Given the description of an element on the screen output the (x, y) to click on. 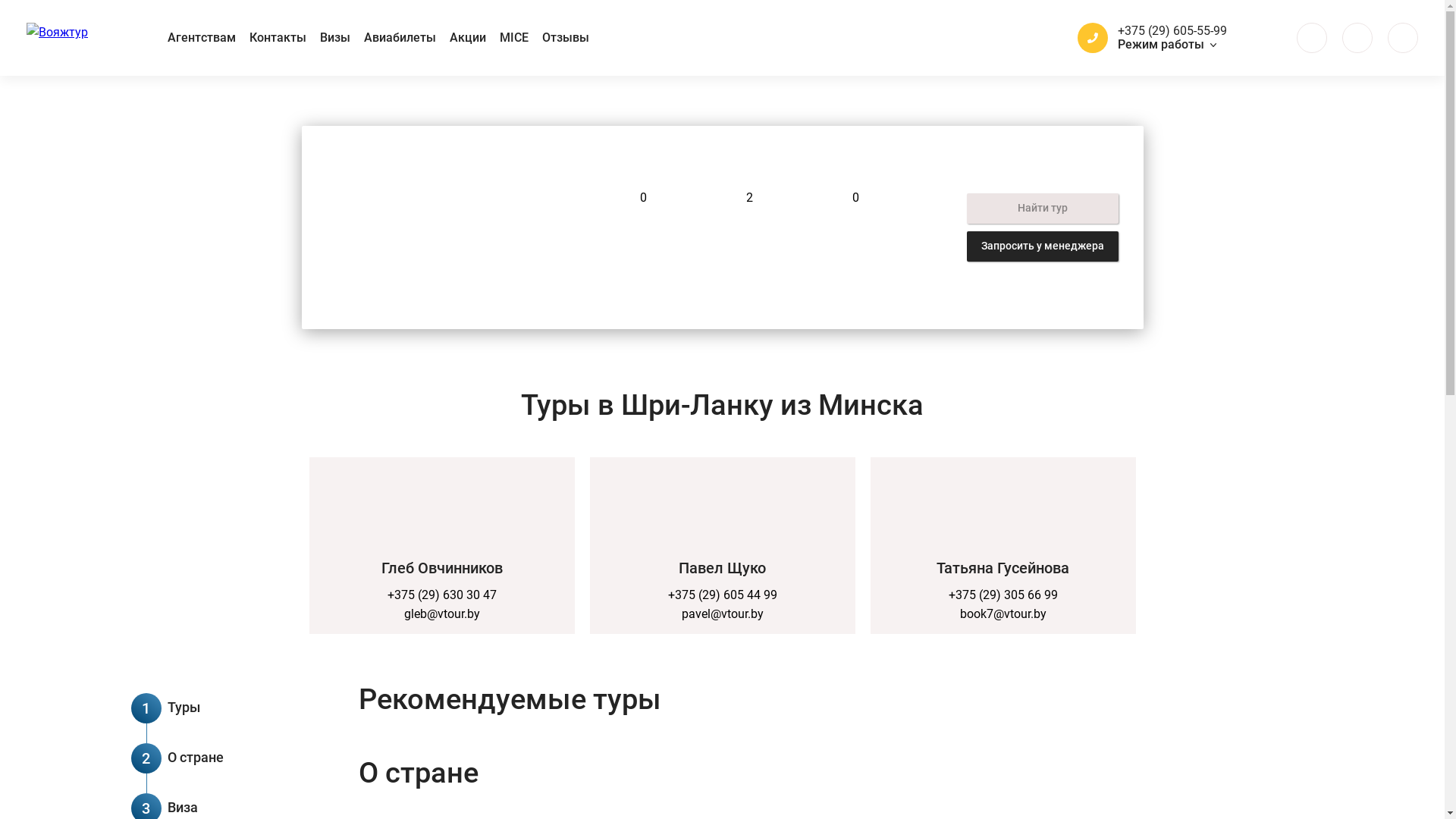
+375 (29) 630 30 47 Element type: text (440, 595)
pavel@vtour.by Element type: text (721, 614)
gleb@vtour.by Element type: text (441, 614)
MICE Element type: text (513, 37)
book7@vtour.by Element type: text (1003, 614)
+375 (29) 605 44 99 Element type: text (721, 595)
+375 (29) 605-55-99 Element type: text (1171, 31)
+375 (29) 305 66 99 Element type: text (1002, 595)
